Given the description of an element on the screen output the (x, y) to click on. 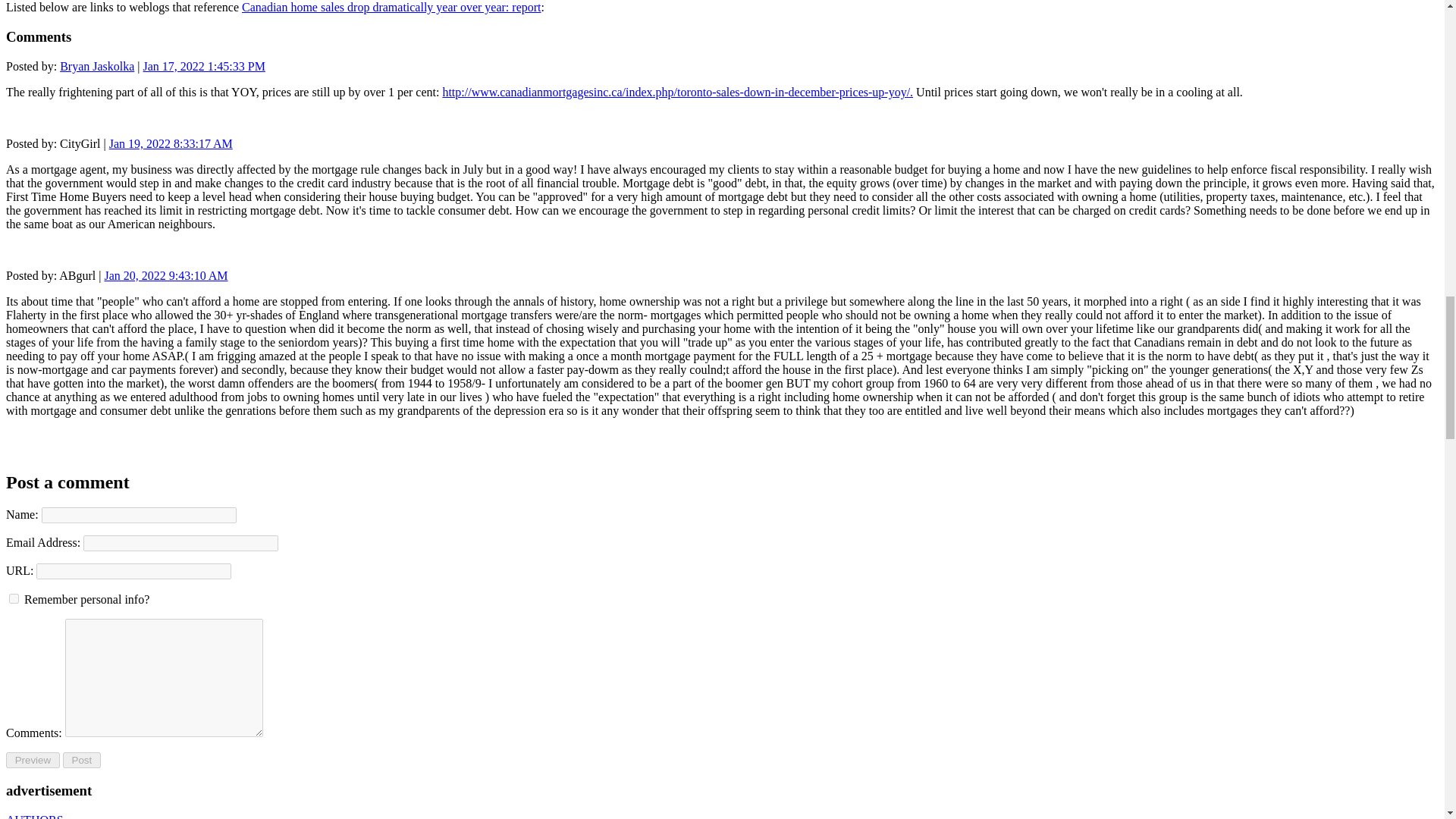
1 (13, 598)
